Given the description of an element on the screen output the (x, y) to click on. 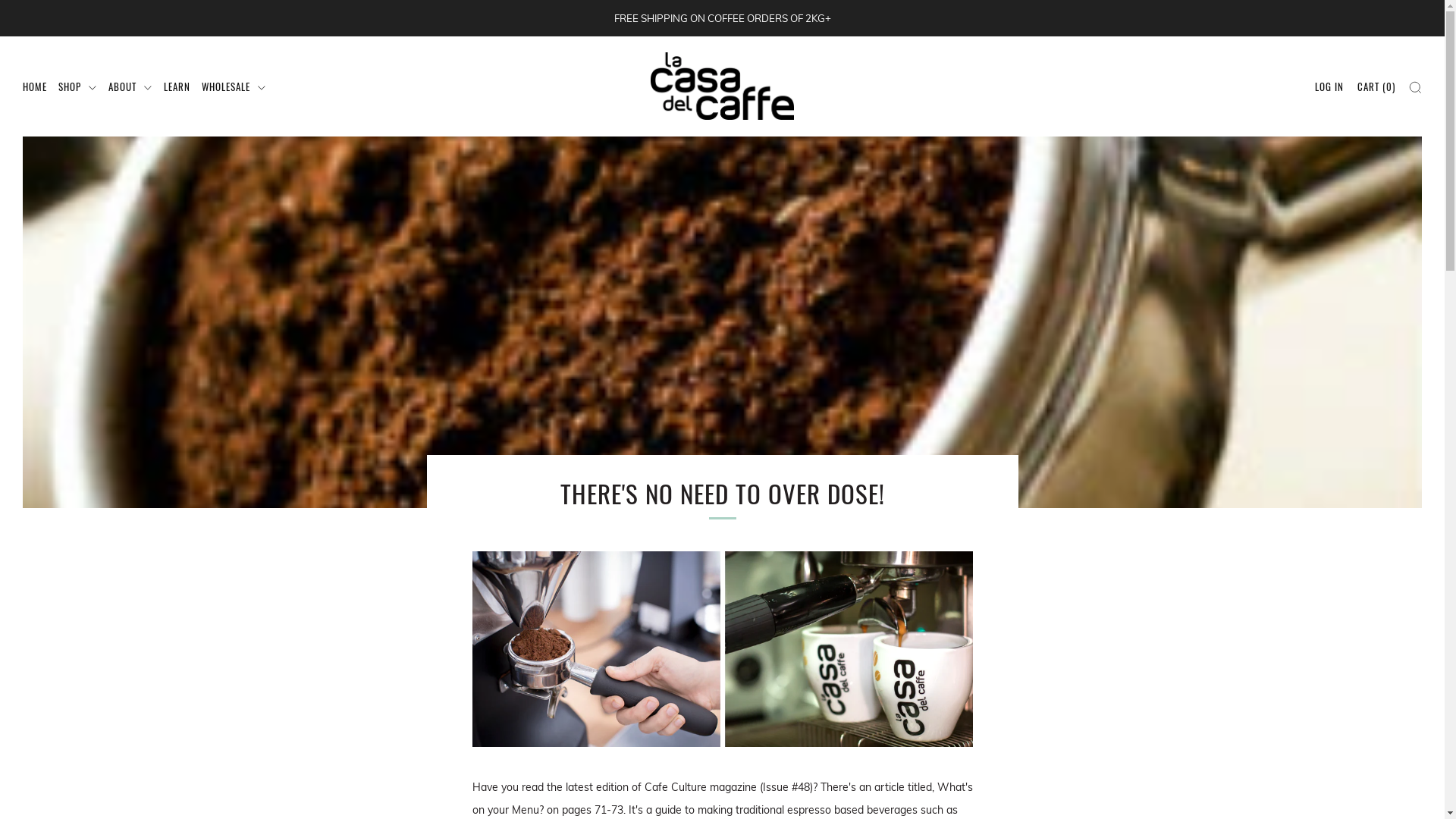
CART (0) Element type: text (1376, 86)
LOG IN Element type: text (1328, 86)
HOME Element type: text (34, 86)
LEARN Element type: text (176, 86)
WHOLESALE Element type: text (233, 86)
ABOUT Element type: text (130, 86)
SHOP Element type: text (77, 86)
